Given the description of an element on the screen output the (x, y) to click on. 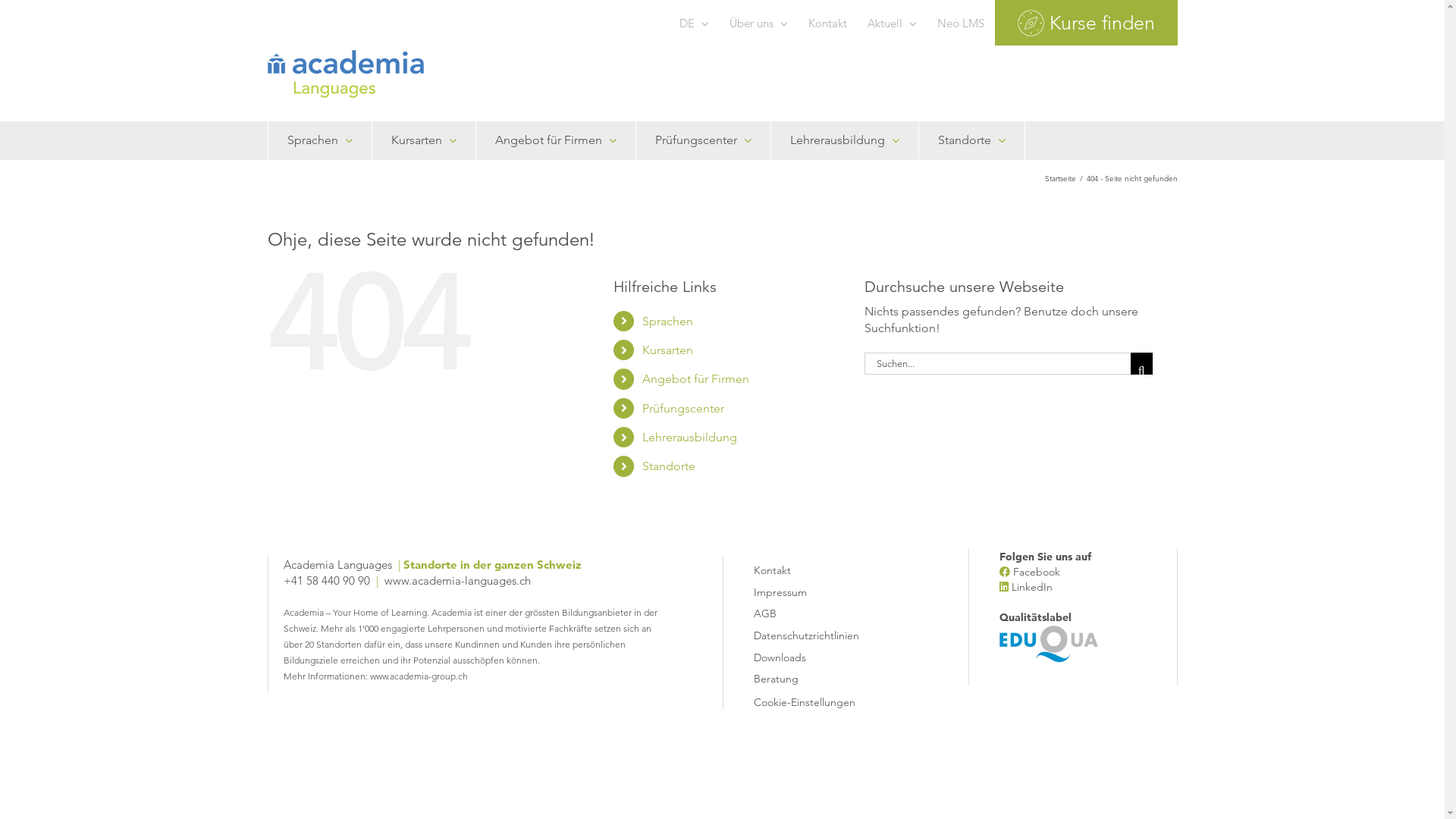
Sprachen Element type: text (667, 320)
Downloads Element type: text (827, 655)
Cookie-Einstellungen Element type: text (804, 702)
Aktuell Element type: text (890, 22)
Neo LMS Element type: text (959, 22)
AGB Element type: text (827, 611)
Standorte Element type: text (970, 140)
Standorte in der ganzen Schweiz Element type: text (492, 564)
Startseite Element type: text (1060, 177)
Kontakt Element type: text (827, 568)
DE Element type: text (693, 22)
Lehrerausbildung Element type: text (844, 140)
Standorte Element type: text (668, 465)
Datenschutzrichtlinien Element type: text (827, 633)
Facebook Element type: text (1036, 571)
www.academia-group.ch Element type: text (418, 675)
Impressum Element type: text (827, 590)
LinkedIn Element type: text (1031, 586)
Kursarten Element type: text (667, 349)
Kurse finden Element type: text (1085, 22)
Kursarten Element type: text (423, 140)
www.academia-languages.ch Element type: text (456, 580)
Sprachen Element type: text (318, 140)
Beratung Element type: text (827, 676)
Kontakt Element type: text (826, 22)
Lehrerausbildung Element type: text (689, 436)
